Given the description of an element on the screen output the (x, y) to click on. 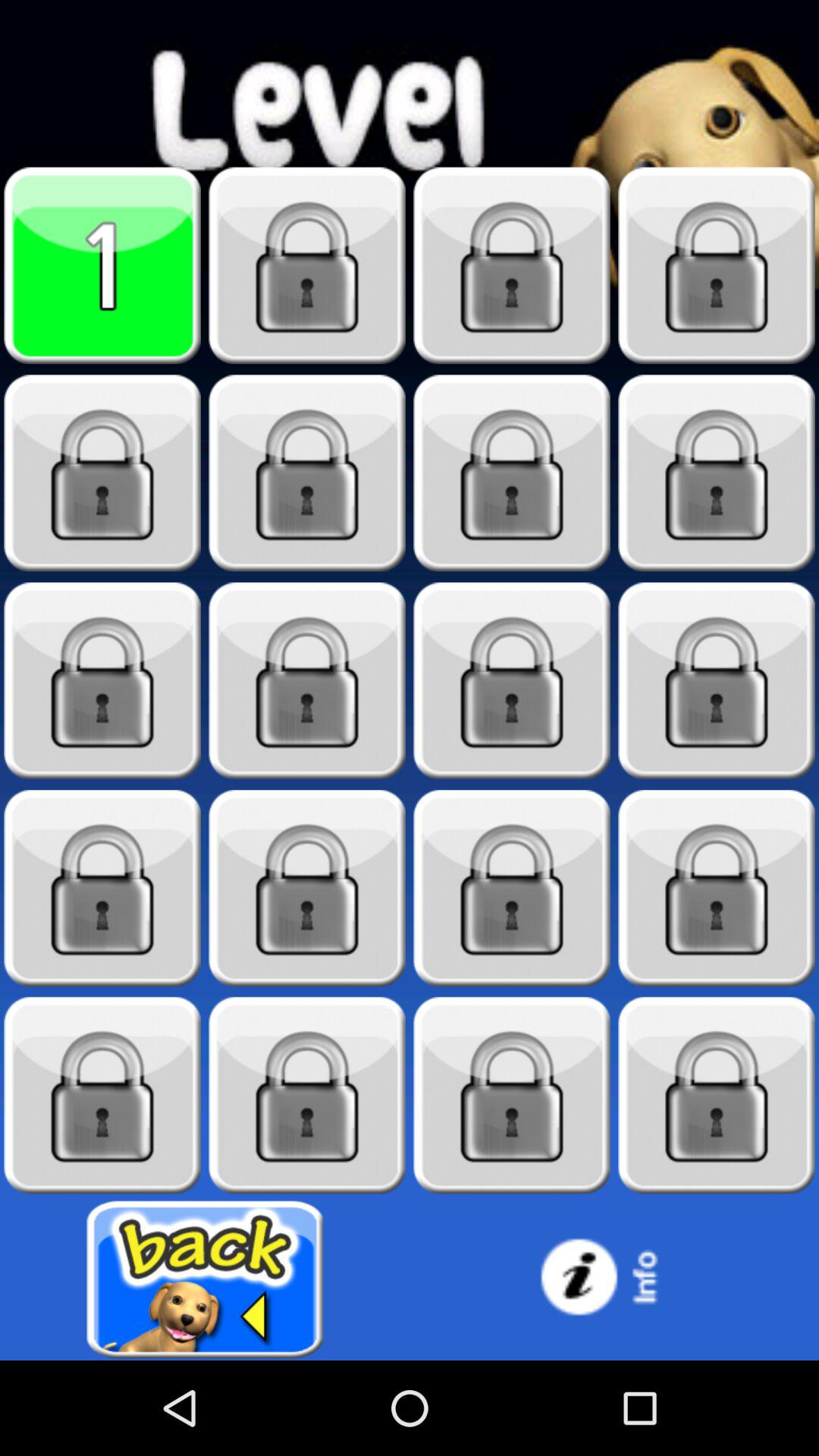
it is locked till you complete other levels (102, 680)
